Given the description of an element on the screen output the (x, y) to click on. 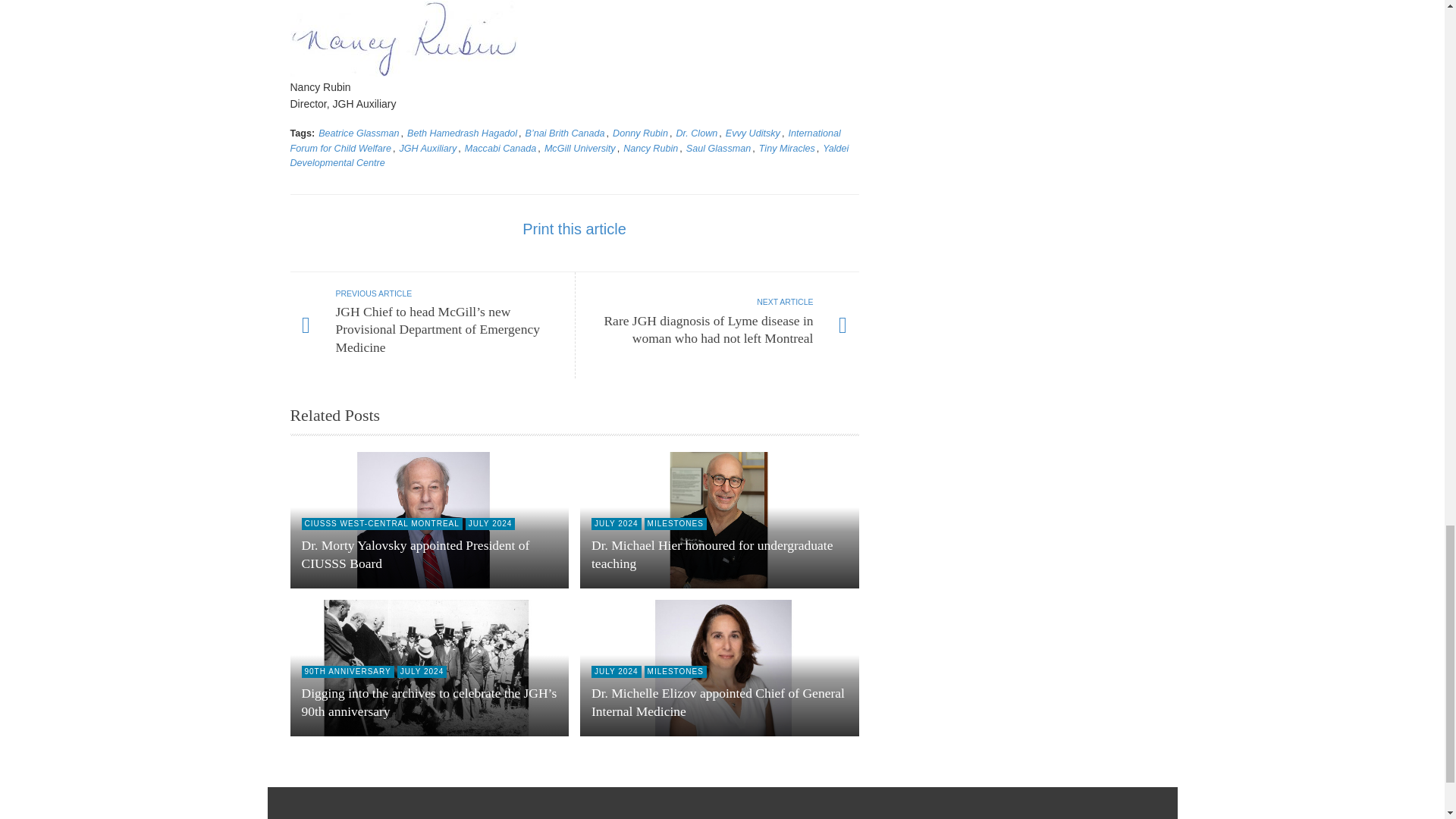
View all posts in CIUSSS West-Central Montreal (382, 523)
View all posts in July 2024 (490, 523)
Donny Rubin (640, 132)
Beatrice Glassman (358, 132)
Print this article (574, 228)
Dr. Clown (696, 132)
Beth Hamedrash Hagadol (461, 132)
View all posts in July 2024 (616, 523)
